Given the description of an element on the screen output the (x, y) to click on. 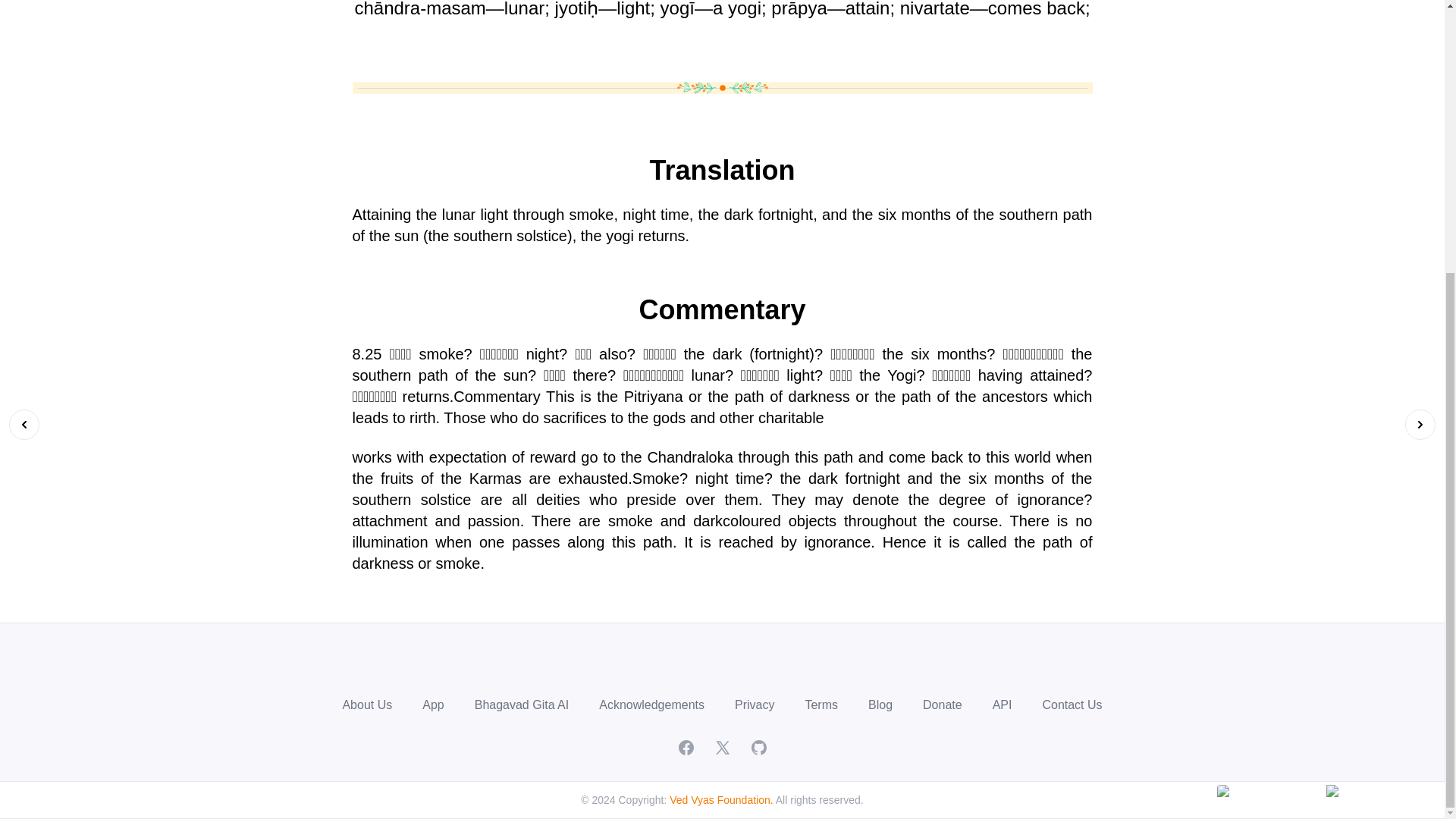
Privacy (754, 704)
Blog (879, 704)
About Us (366, 704)
Ved Vyas Foundation. (721, 799)
Facebook (685, 747)
Terms (821, 704)
Contact Us (1072, 704)
Bhagavad Gita AI (521, 704)
API (1001, 704)
Twitter (721, 747)
